Given the description of an element on the screen output the (x, y) to click on. 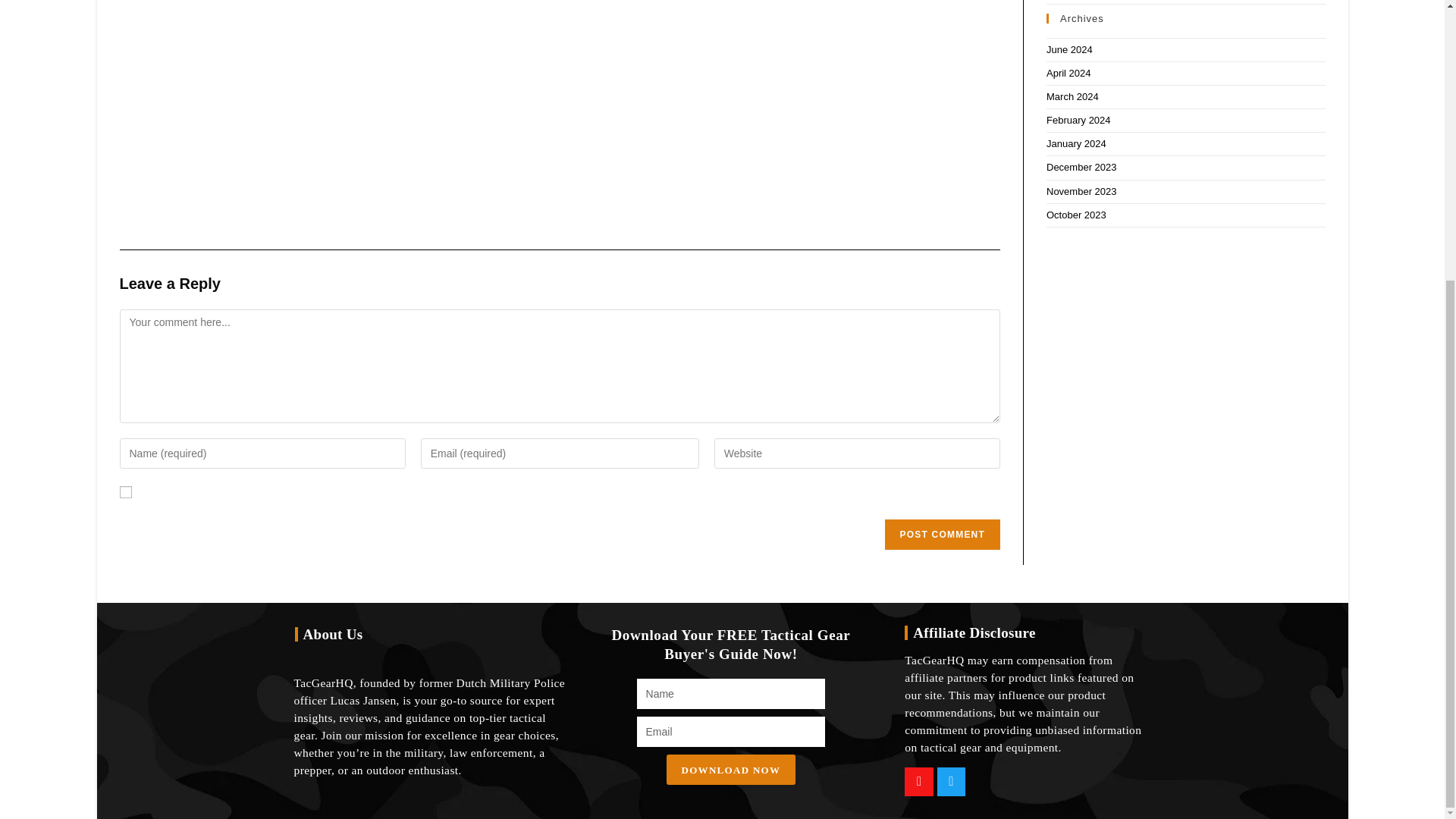
November 2023 (1081, 191)
June 2024 (1069, 49)
December 2023 (1081, 166)
April 2024 (1068, 72)
Post Comment (942, 534)
March 2024 (1072, 96)
January 2024 (1076, 143)
Post Comment (942, 534)
October 2023 (1076, 214)
February 2024 (1078, 120)
DOWNLOAD NOW (731, 769)
yes (125, 491)
